Given the description of an element on the screen output the (x, y) to click on. 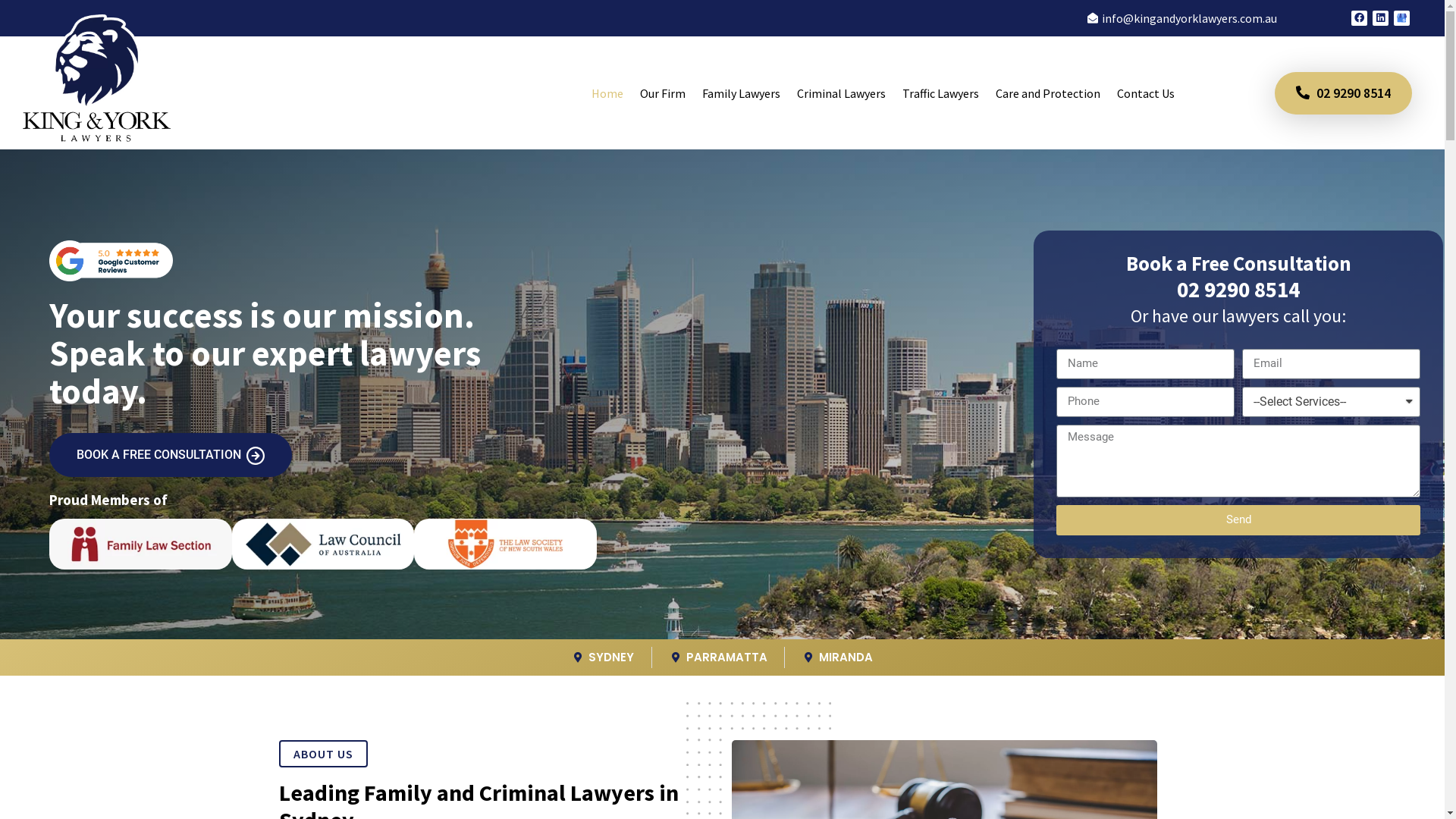
Care and Protection Element type: text (1047, 92)
Criminal Lawyers Element type: text (841, 92)
Family Lawyers Element type: text (740, 92)
info@kingandyorklawyers.com.au Element type: text (1180, 17)
BOOK A FREE CONSULTATION Element type: text (170, 454)
02 9290 8514 Element type: text (1343, 93)
Home Element type: text (607, 92)
Traffic Lawyers Element type: text (940, 92)
Our Firm Element type: text (662, 92)
02 9290 8514 Element type: text (1237, 289)
Contact Us Element type: text (1145, 92)
Send Element type: text (1238, 520)
